Given the description of an element on the screen output the (x, y) to click on. 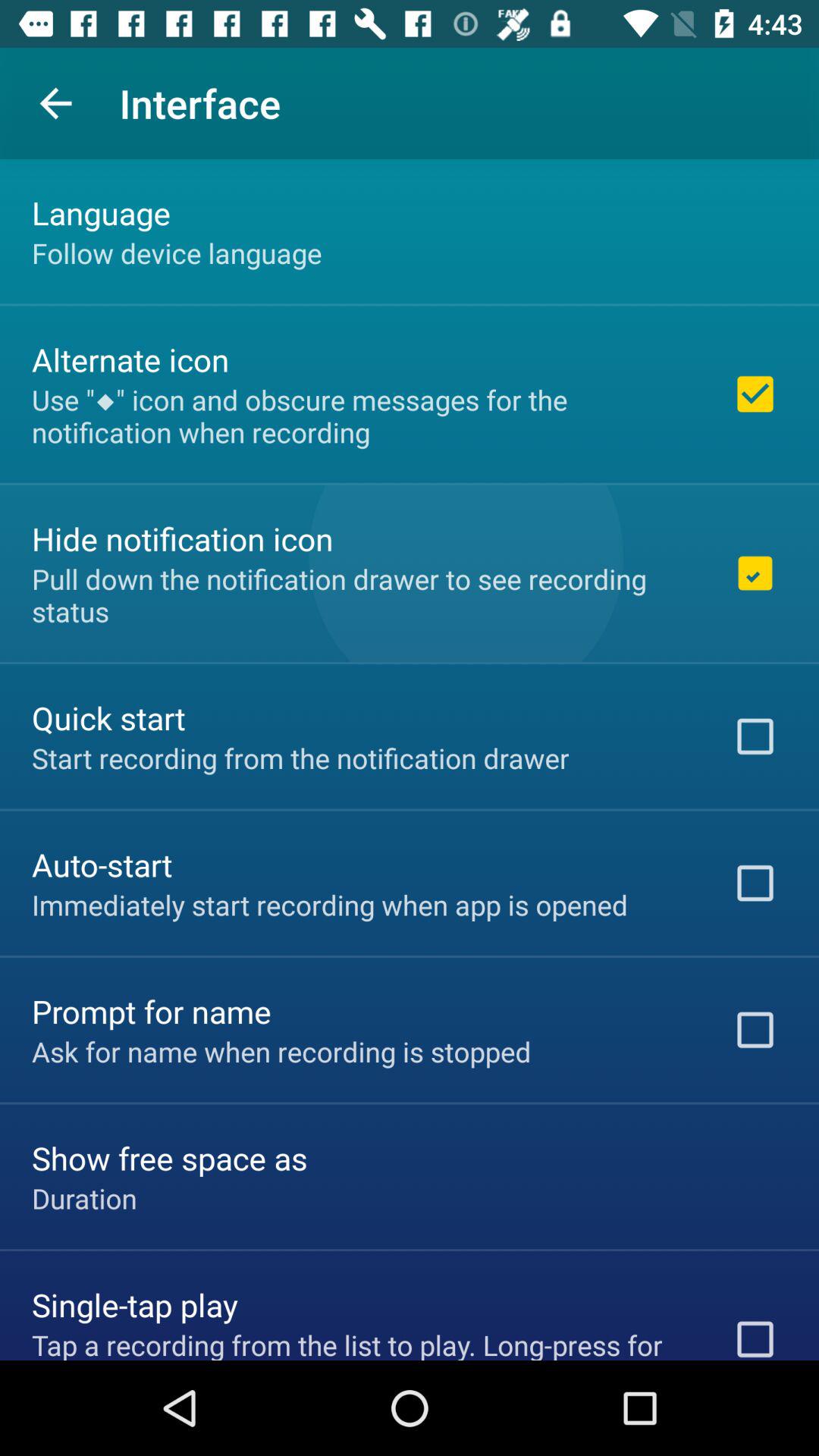
select quick start item (108, 717)
